Given the description of an element on the screen output the (x, y) to click on. 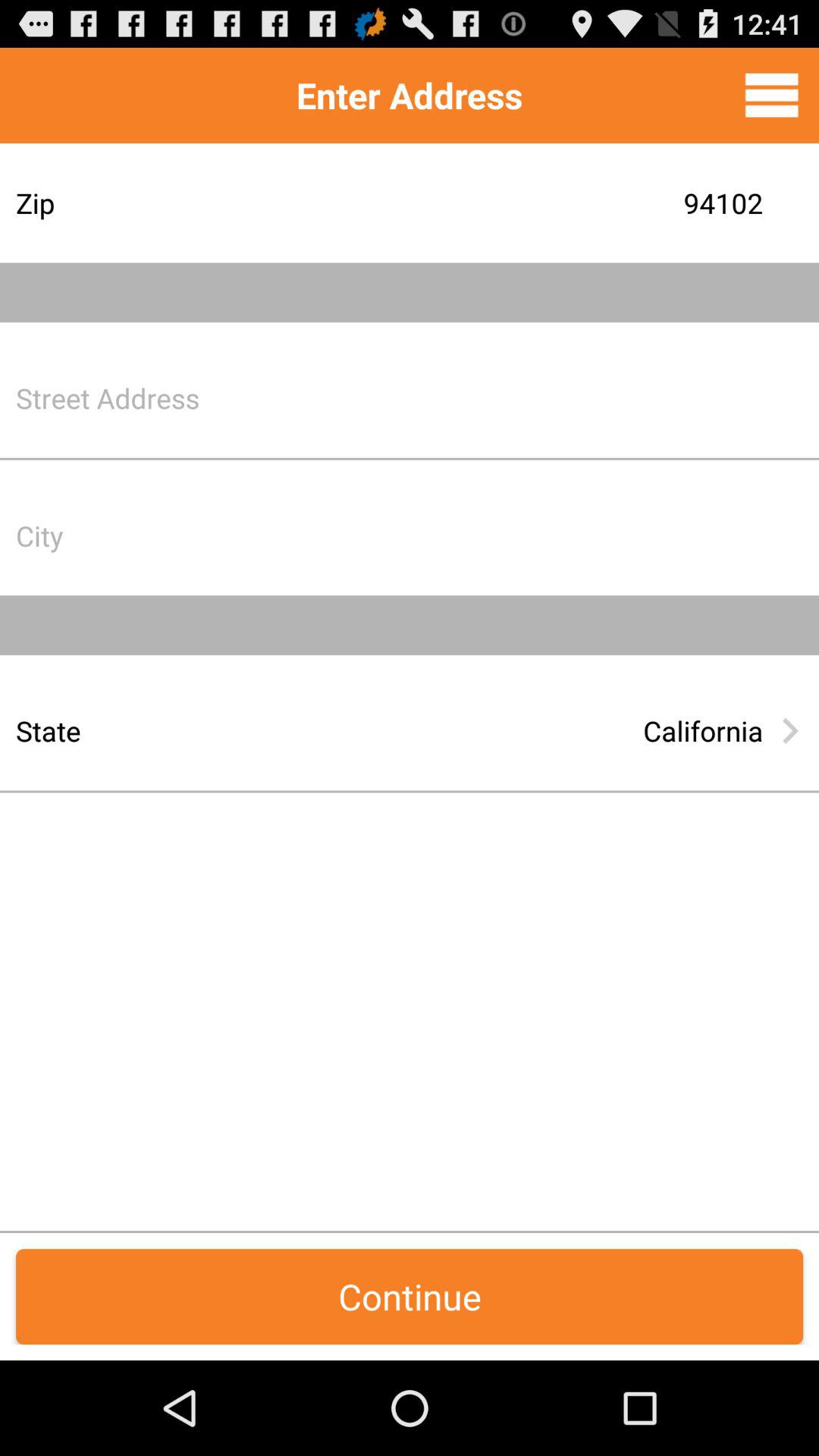
flip to 94102 (527, 202)
